Given the description of an element on the screen output the (x, y) to click on. 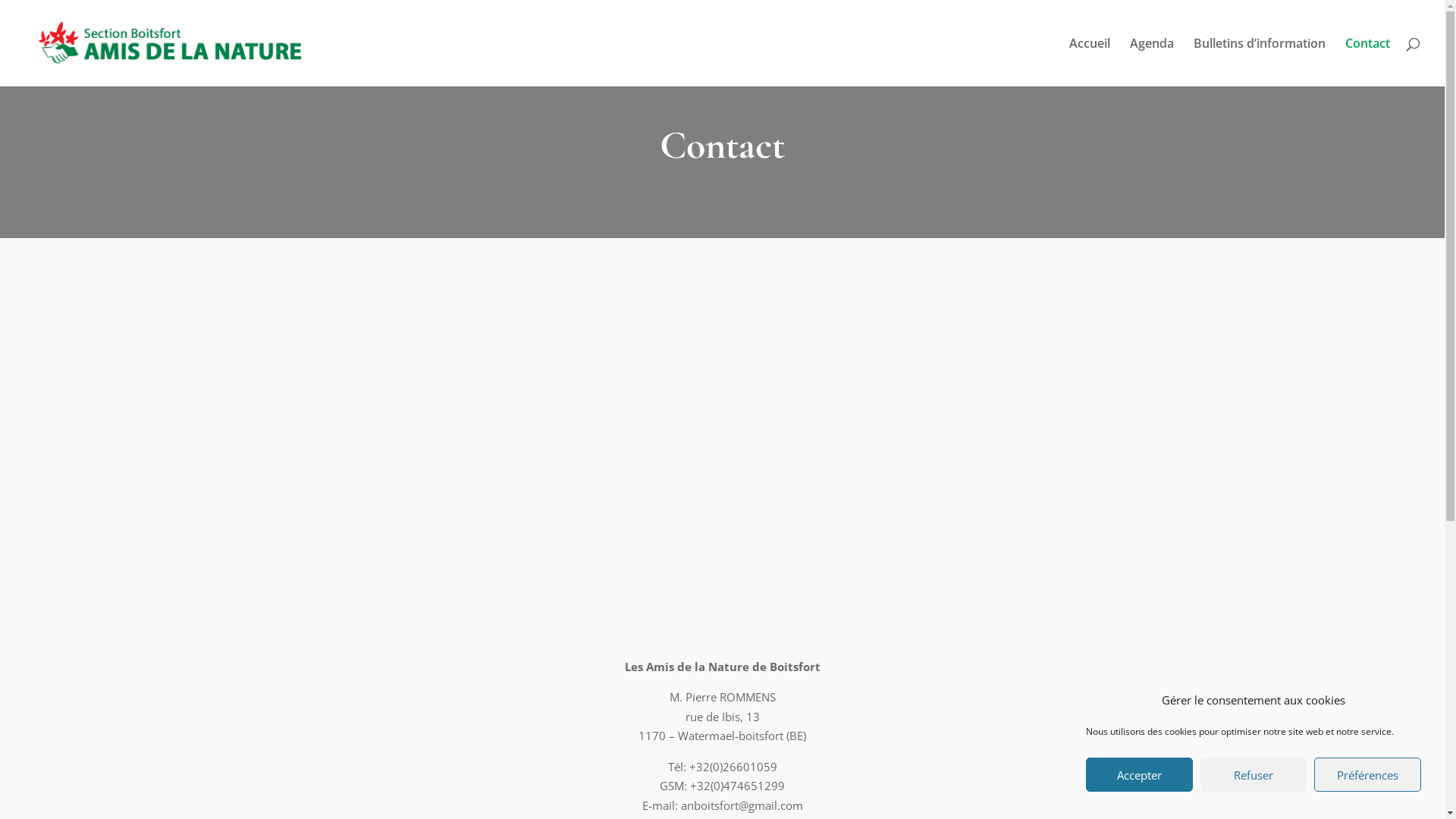
Contact Element type: text (1367, 61)
Agenda Element type: text (1151, 61)
Refuser Element type: text (1253, 774)
Accueil Element type: text (1089, 61)
Accepter Element type: text (1138, 774)
